Given the description of an element on the screen output the (x, y) to click on. 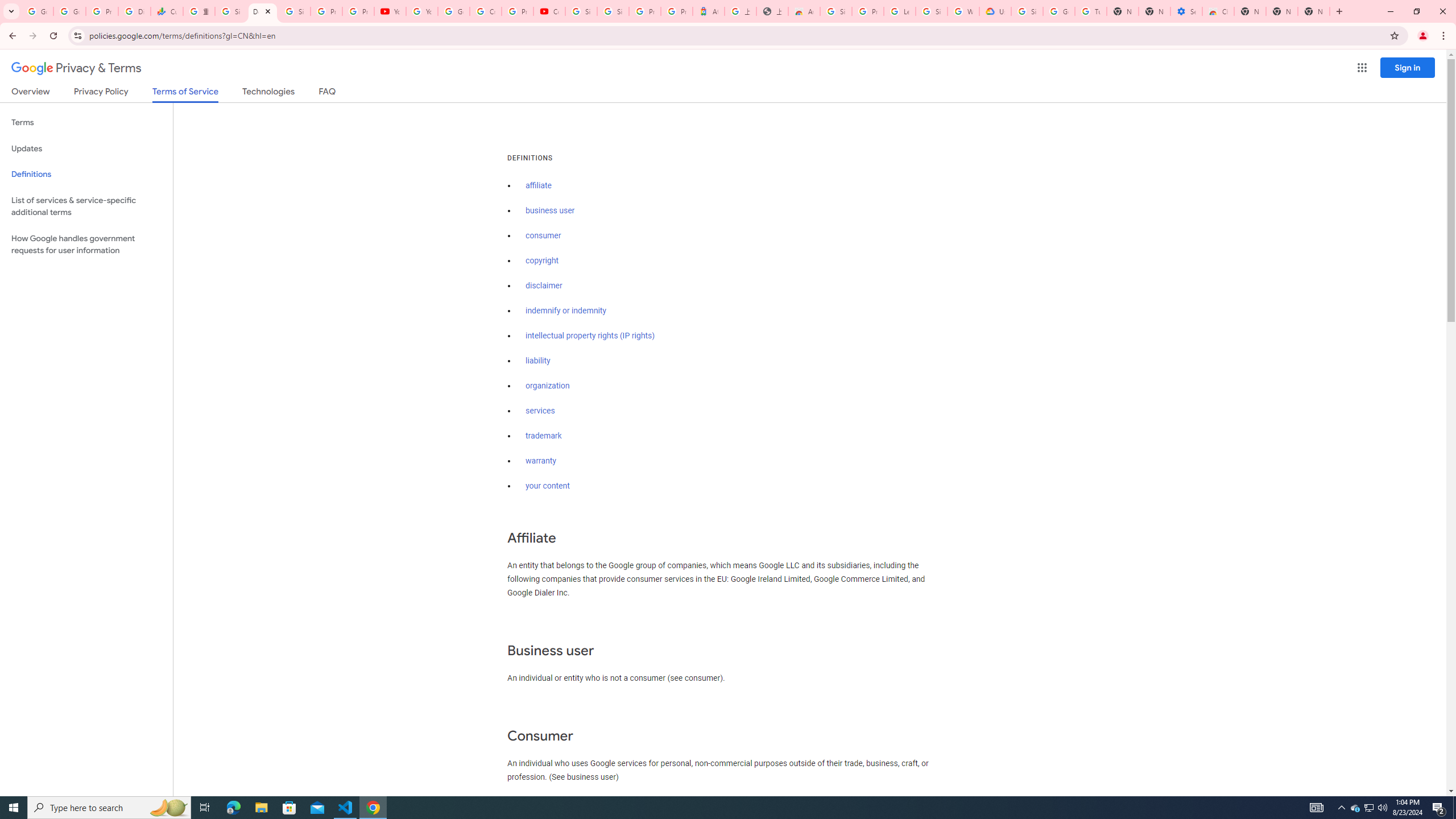
Awesome Screen Recorder & Screenshot - Chrome Web Store (804, 11)
Sign in - Google Accounts (836, 11)
your content (547, 486)
List of services & service-specific additional terms (86, 206)
YouTube (389, 11)
Sign in - Google Accounts (931, 11)
Create your Google Account (485, 11)
How Google handles government requests for user information (86, 244)
YouTube (421, 11)
